Given the description of an element on the screen output the (x, y) to click on. 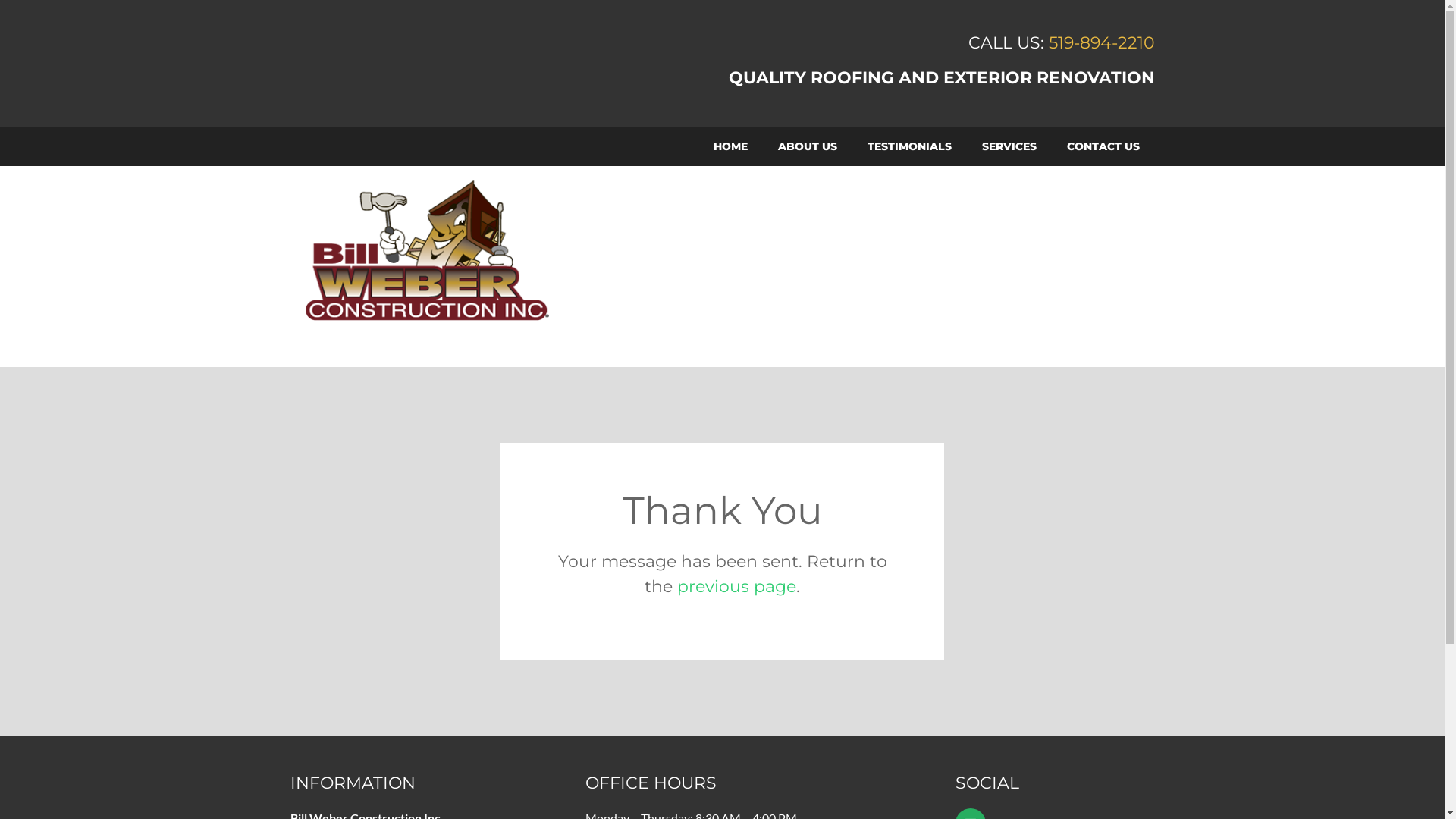
CONTACT US Element type: text (1102, 146)
HOME Element type: text (729, 146)
TESTIMONIALS Element type: text (909, 146)
SERVICES Element type: text (1008, 146)
ABOUT US Element type: text (807, 146)
Skip to content Element type: text (50, 8)
519-894-2210 Element type: text (1101, 42)
previous page Element type: text (736, 586)
